Given the description of an element on the screen output the (x, y) to click on. 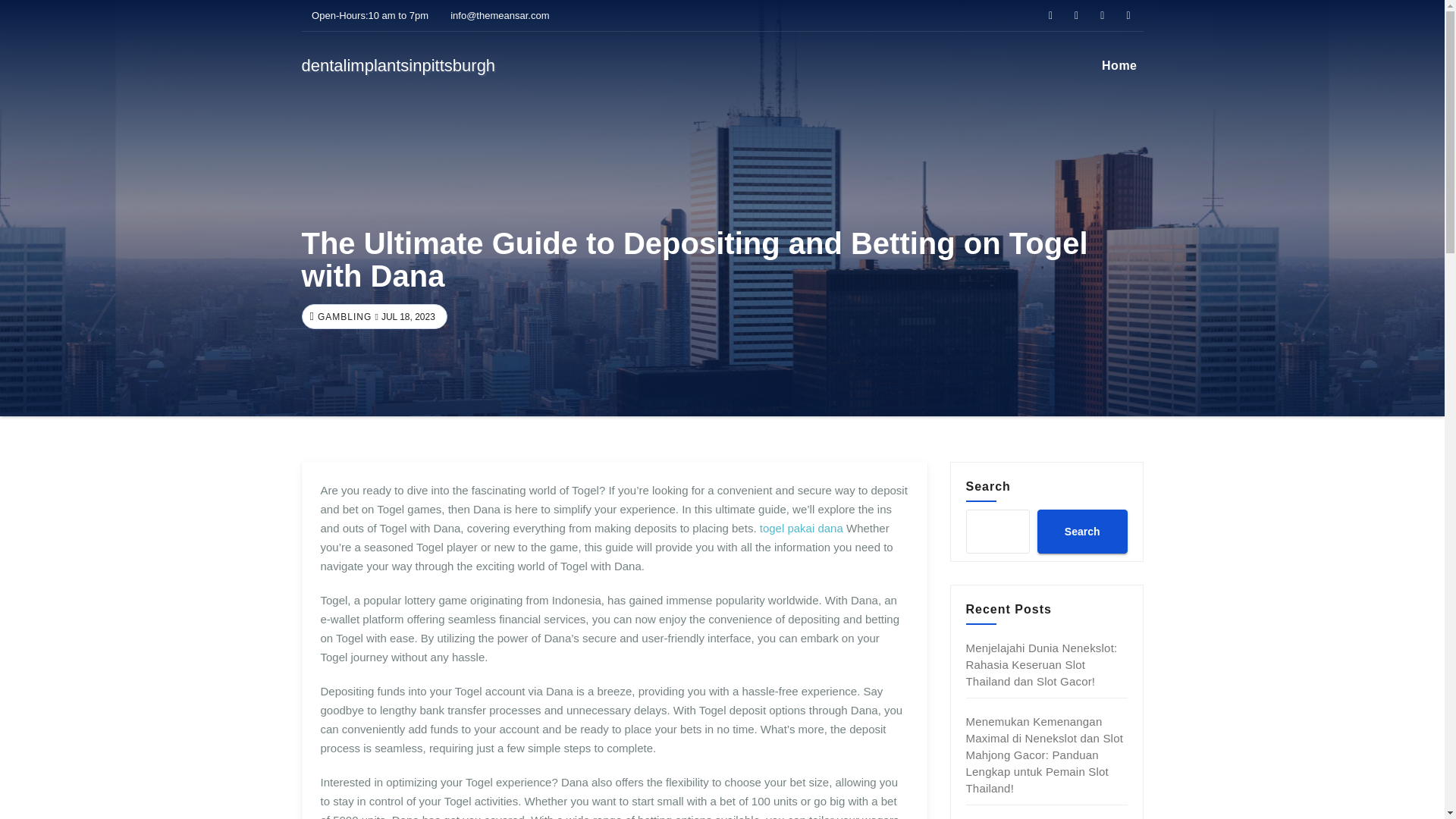
togel pakai dana (801, 527)
Open-Hours:10 am to 7pm (365, 15)
dentalimplantsinpittsburgh (398, 65)
GAMBLING (342, 317)
Search (1081, 531)
